Given the description of an element on the screen output the (x, y) to click on. 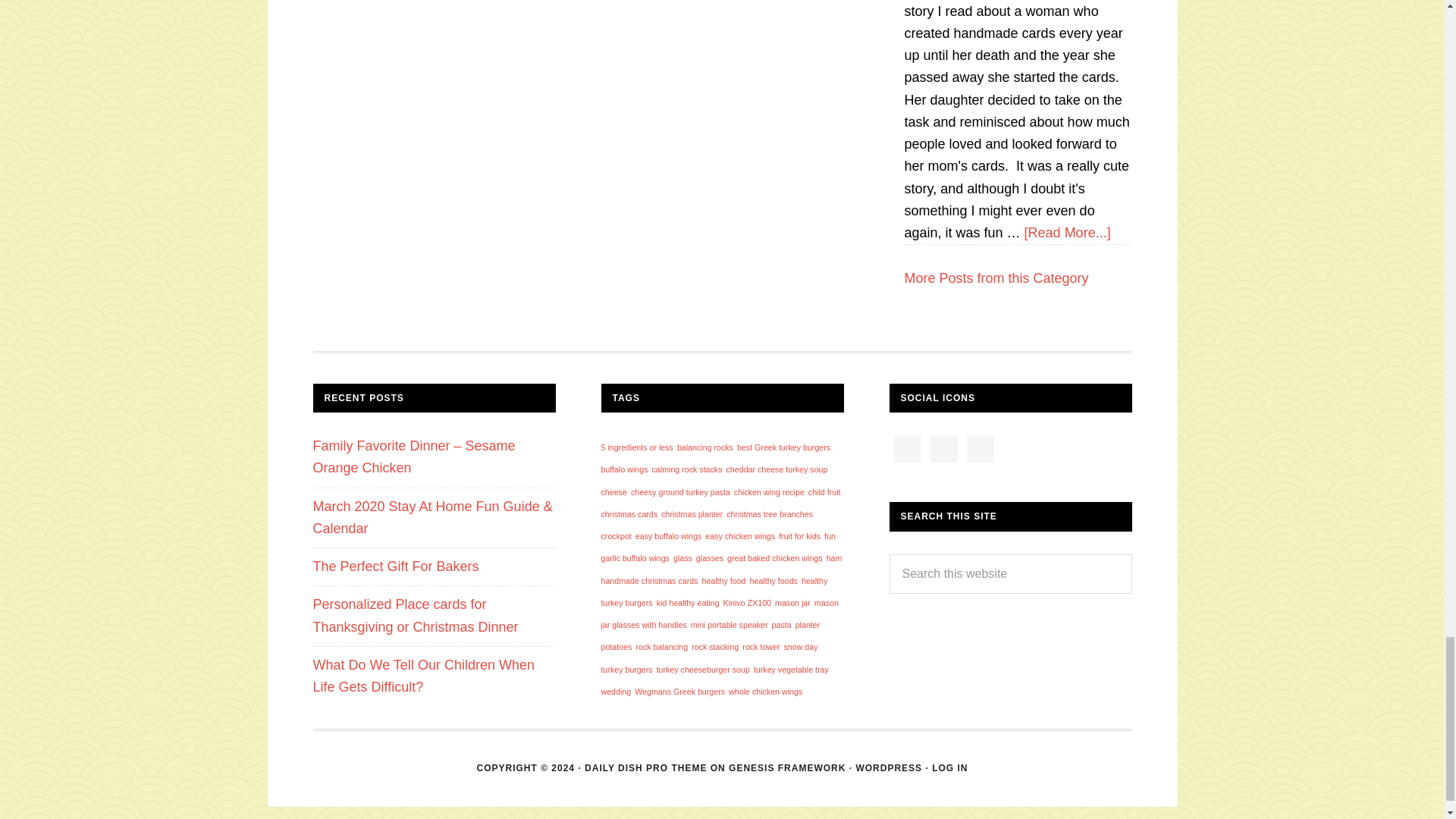
Featured Posts (995, 278)
5 ingredients or less (635, 447)
What Do We Tell Our Children When Life Gets Difficult? (423, 675)
The Perfect Gift For Bakers (396, 566)
More Posts from this Category (995, 278)
balancing rocks (705, 447)
